Given the description of an element on the screen output the (x, y) to click on. 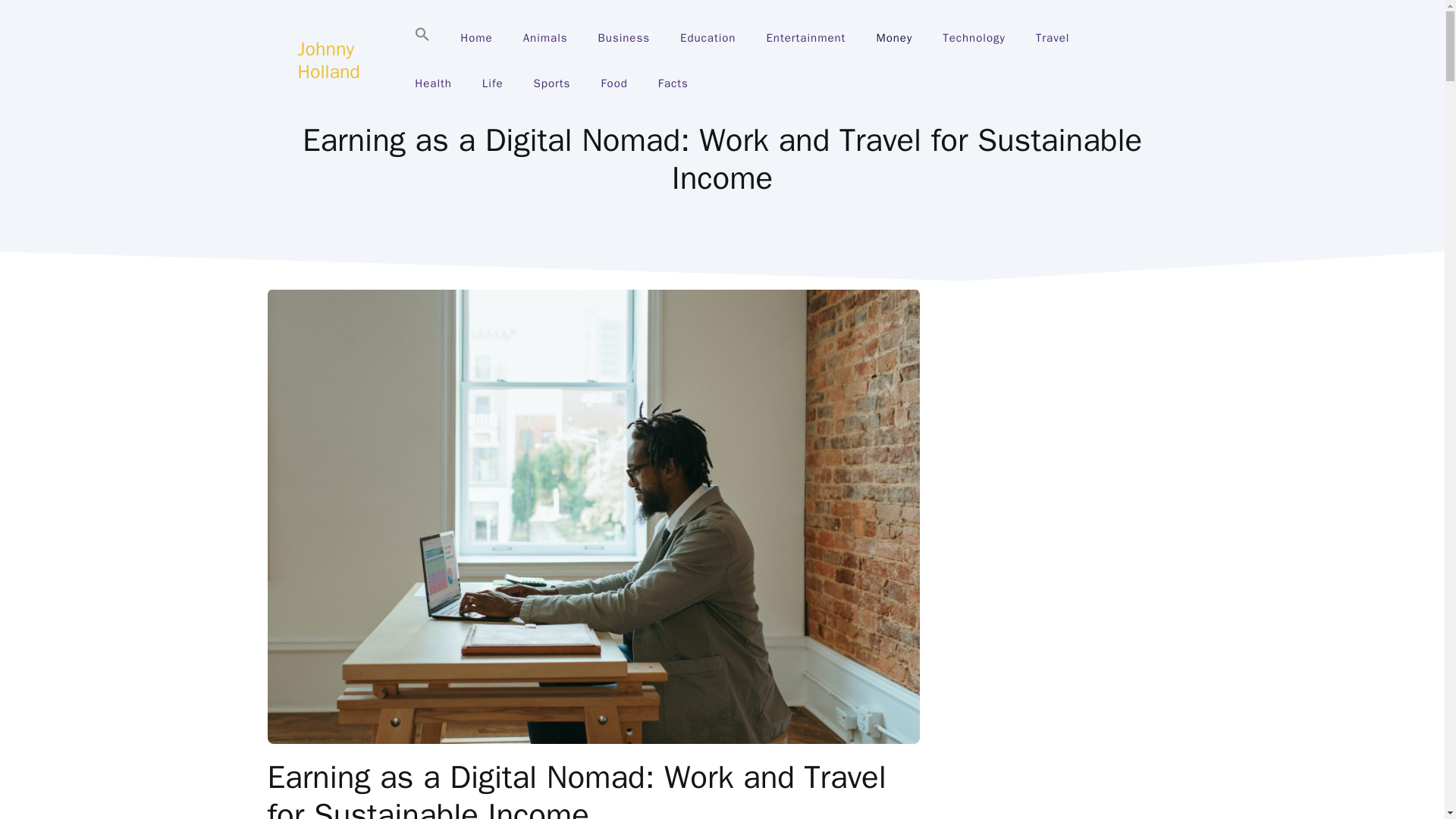
Sports (552, 83)
Education (708, 37)
Facts (673, 83)
Technology (973, 37)
Johnny Holland (328, 59)
Life (492, 83)
Health (432, 83)
Food (613, 83)
Entertainment (805, 37)
Animals (545, 37)
